Given the description of an element on the screen output the (x, y) to click on. 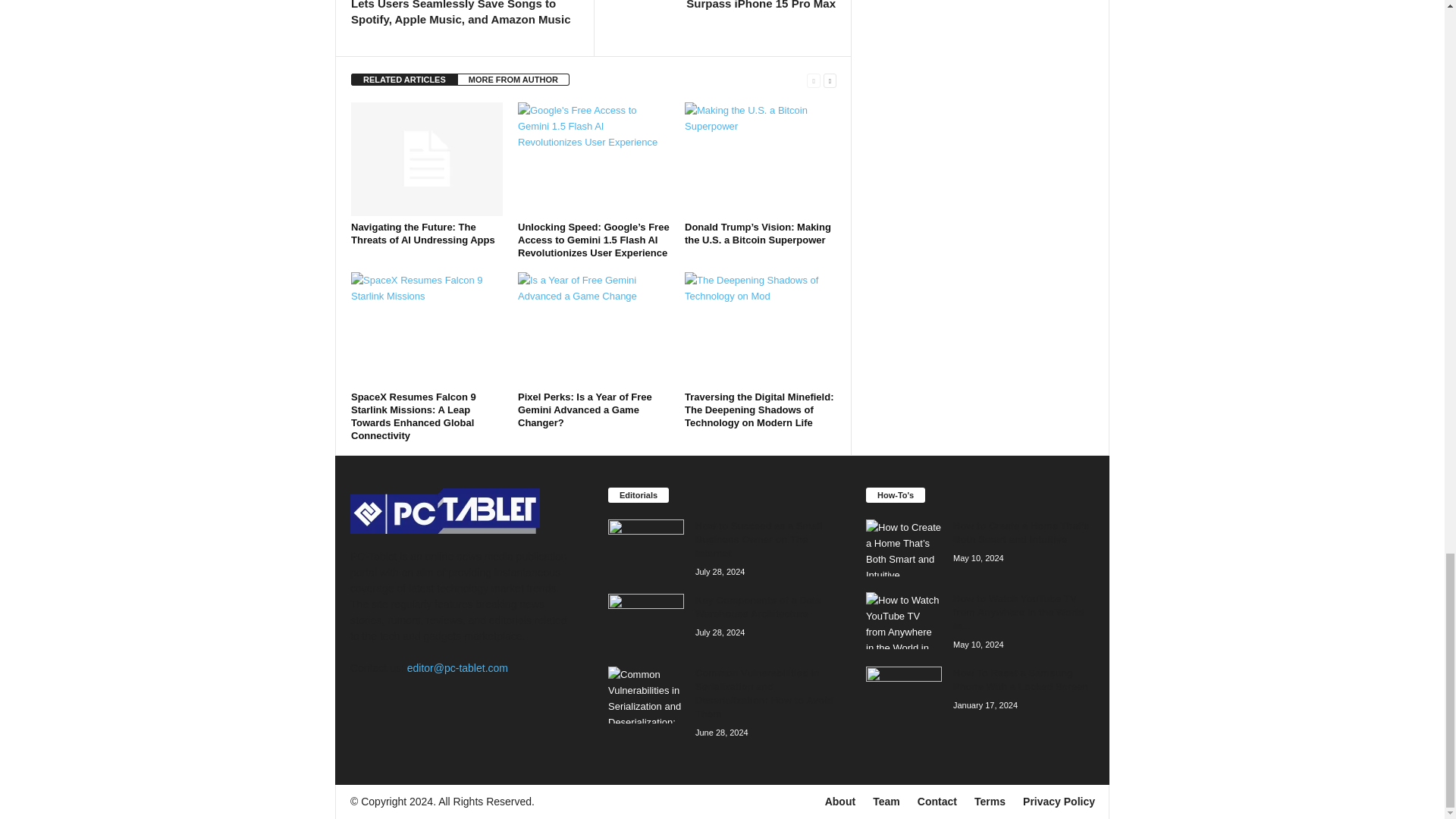
RELATED ARTICLES (404, 79)
MORE FROM AUTHOR (513, 79)
Samsung Galaxy S24 Ultra Poised to Surpass iPhone 15 Pro Max (721, 5)
Navigating the Future: The Threats of AI Undressing Apps (426, 159)
